Given the description of an element on the screen output the (x, y) to click on. 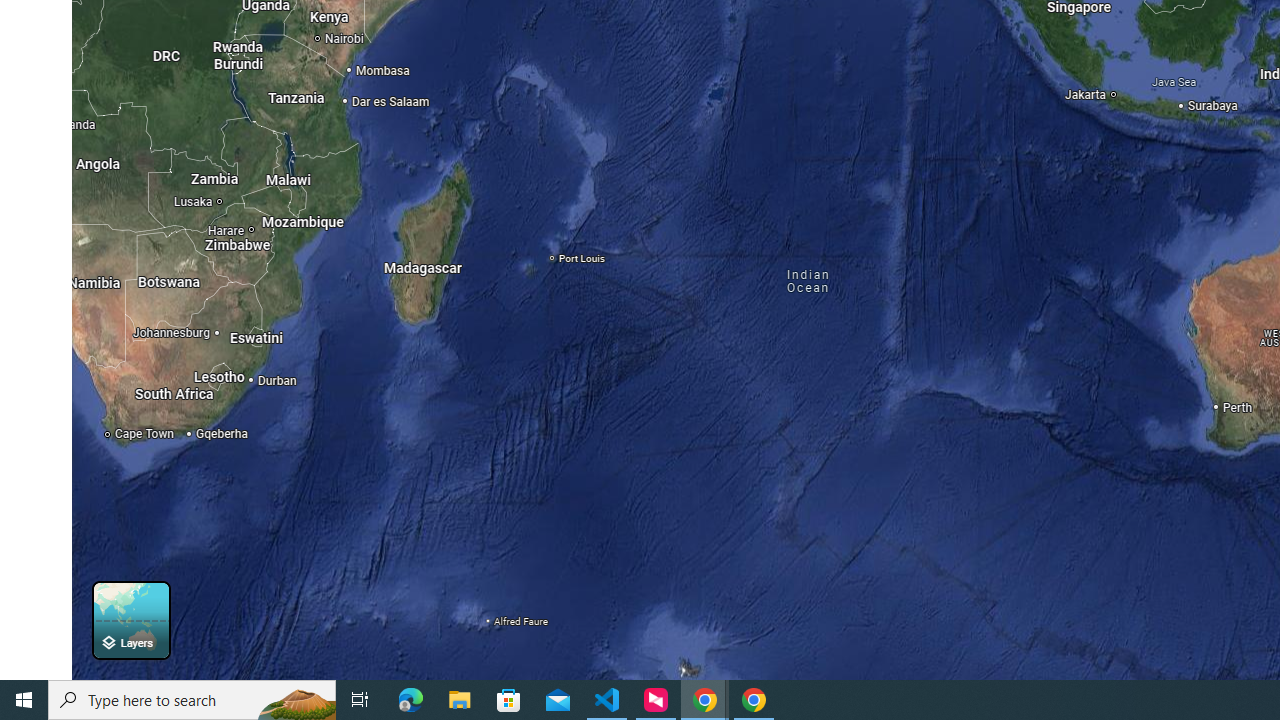
Layers (130, 620)
